Given the description of an element on the screen output the (x, y) to click on. 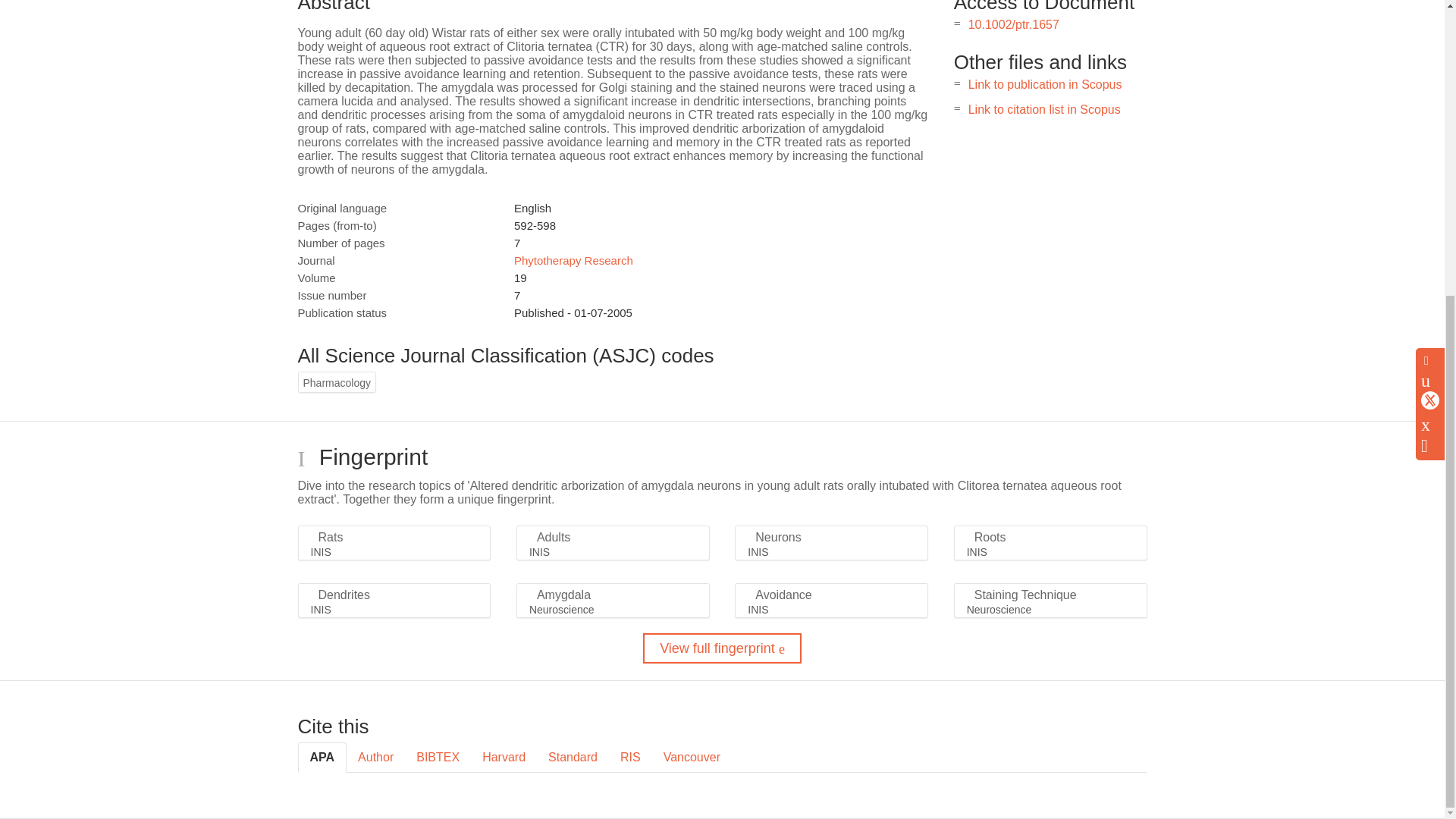
Link to publication in Scopus (1045, 83)
View full fingerprint (722, 648)
Phytotherapy Research (573, 259)
Link to citation list in Scopus (1044, 109)
